Given the description of an element on the screen output the (x, y) to click on. 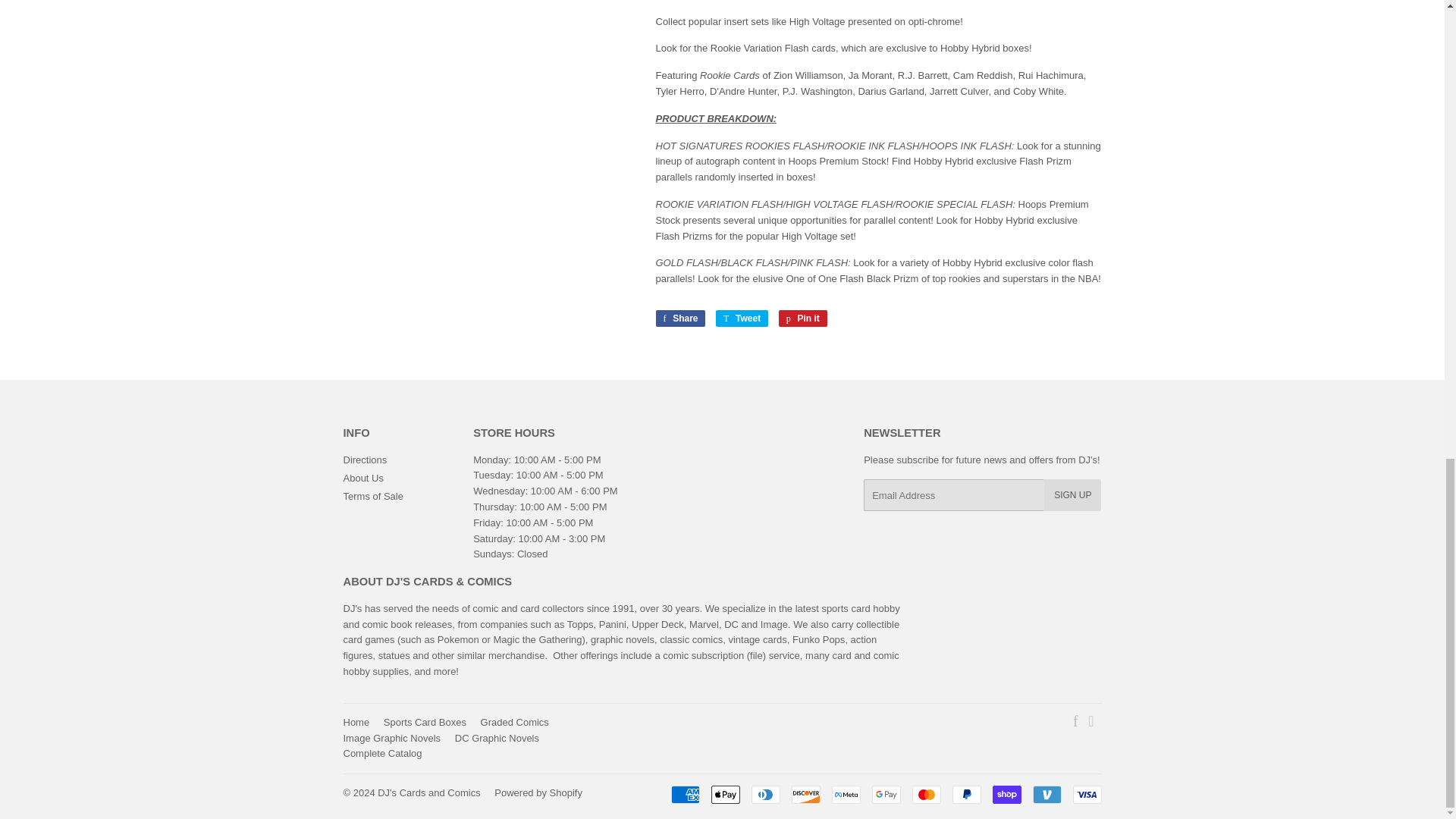
Directions (364, 460)
Venmo (1046, 794)
Discover (806, 794)
Google Pay (886, 794)
Meta Pay (845, 794)
Diners Club (764, 794)
American Express (683, 794)
Pin on Pinterest (679, 318)
PayPal (802, 318)
Visa (966, 794)
Apple Pay (1085, 794)
Tweet on Twitter (725, 794)
Share on Facebook (742, 318)
